Given the description of an element on the screen output the (x, y) to click on. 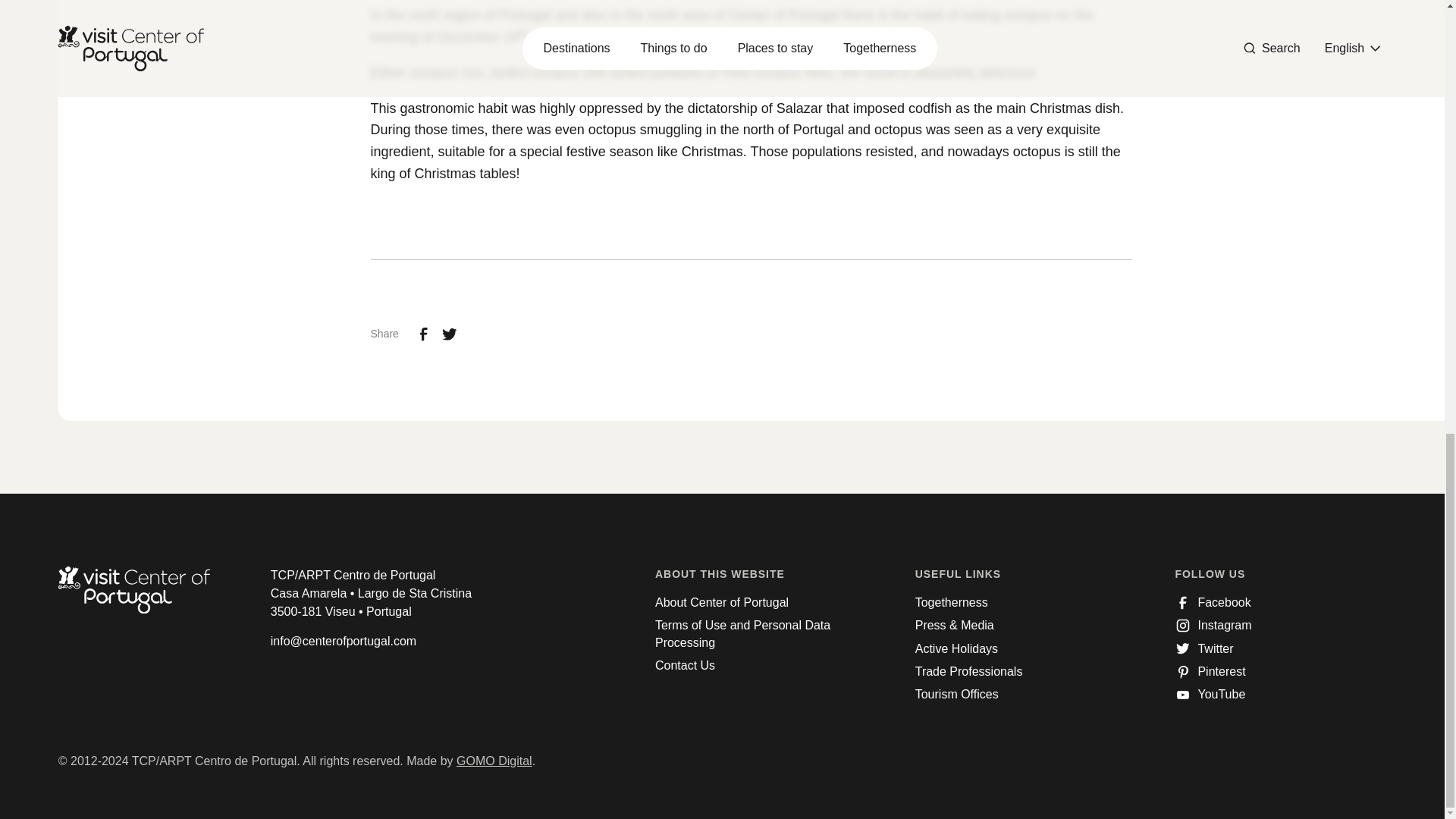
About Center of Portugal (722, 602)
Togetherness (951, 602)
Terms of Use and Personal Data Processing (760, 634)
Instagram (1212, 625)
Contact Us (684, 665)
Pinterest (1209, 671)
Twitter (1203, 648)
Trade Professionals (969, 671)
Facebook (1212, 602)
YouTube (1209, 694)
Tourism Offices (956, 694)
Active Holidays (956, 648)
GOMO Digital (494, 760)
